Given the description of an element on the screen output the (x, y) to click on. 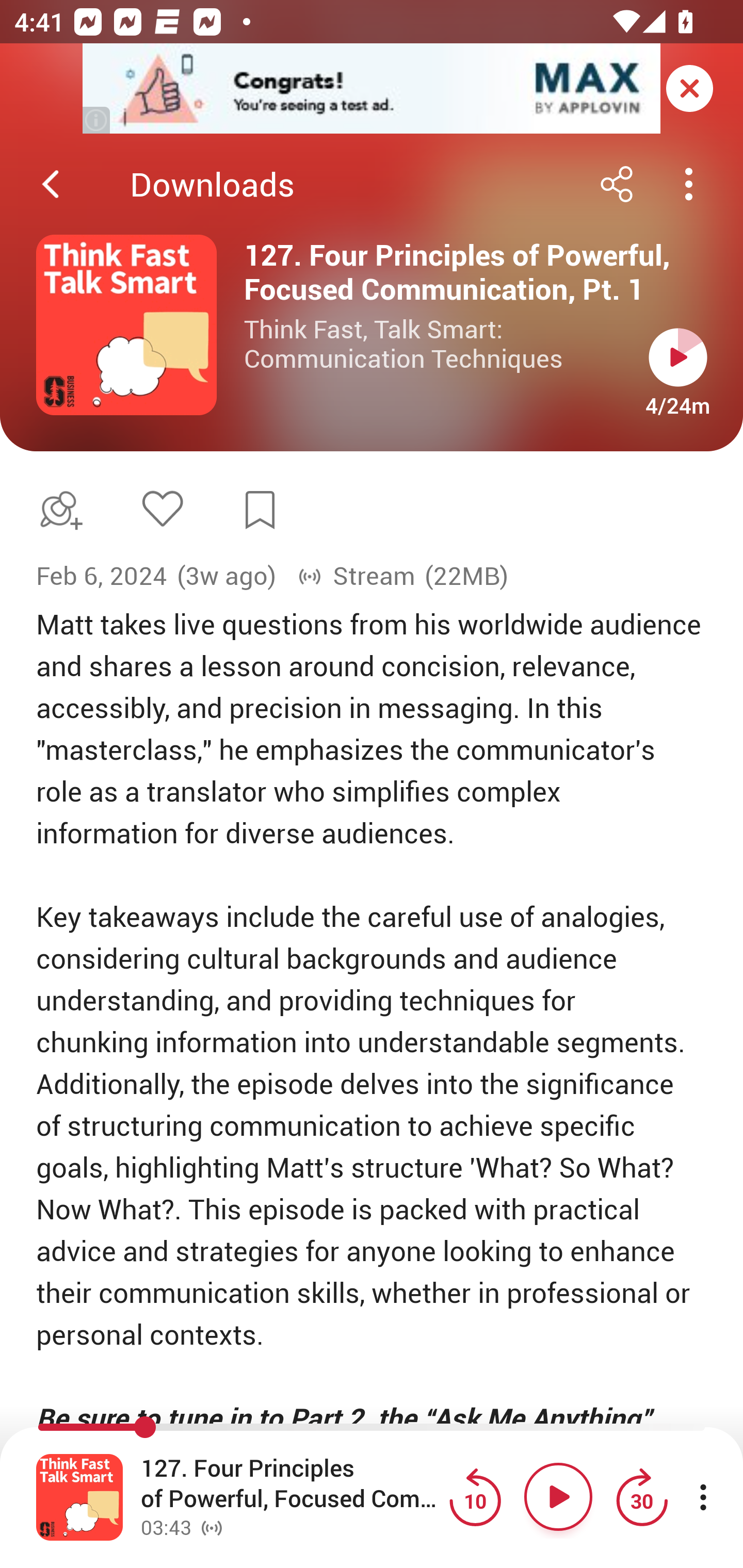
app-monetization (371, 88)
(i) (96, 119)
Back (50, 184)
Open series (126, 325)
Play button (677, 357)
Like (161, 507)
Add episode to Play Later (57, 509)
New bookmark … (259, 510)
Stream (356, 576)
Open fullscreen player (79, 1497)
More player controls (703, 1497)
Play button (558, 1496)
Jump back (475, 1497)
Jump forward (641, 1497)
